Given the description of an element on the screen output the (x, y) to click on. 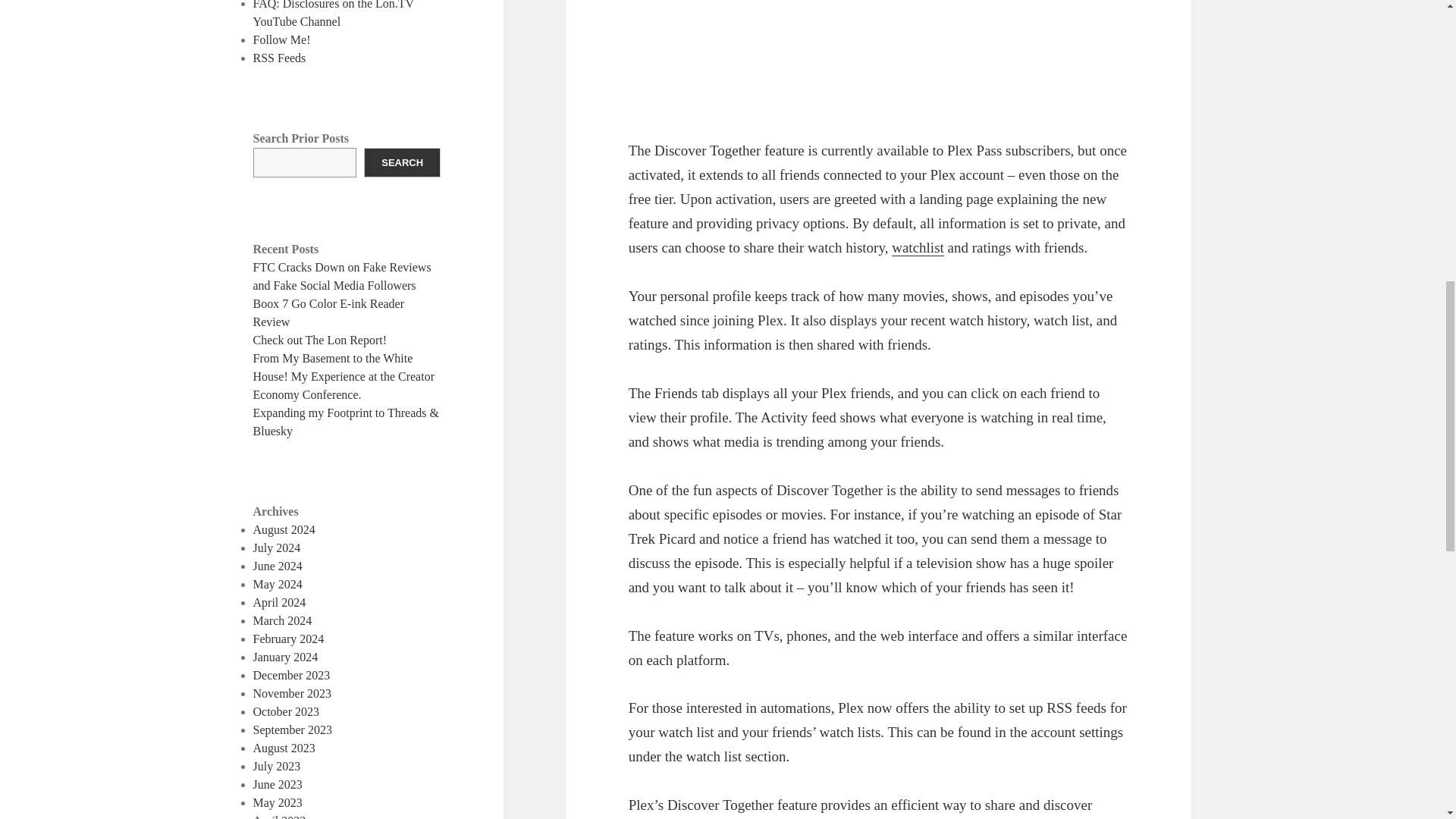
RSS Feeds (279, 57)
April 2024 (279, 602)
SEARCH (402, 162)
Follow Me! (282, 39)
July 2024 (277, 547)
December 2023 (291, 675)
May 2024 (277, 584)
